Given the description of an element on the screen output the (x, y) to click on. 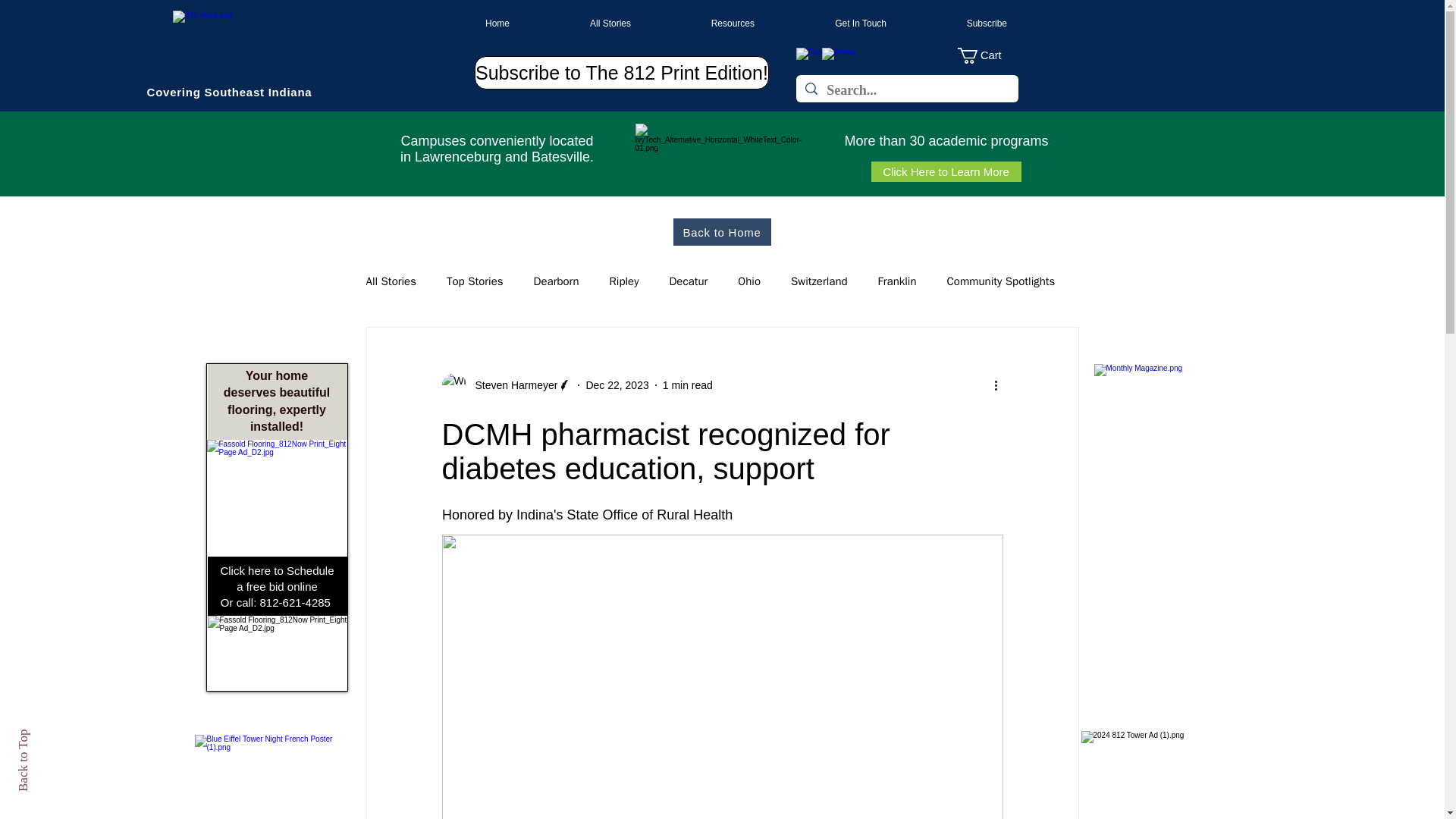
Cart (987, 55)
Cart (987, 55)
Back to Home (721, 231)
Click Here to Learn More (945, 171)
Or call: 812-621-4285  (277, 602)
All Stories (581, 23)
a free bid online (276, 585)
Get In Touch (831, 23)
Resources (703, 23)
Dec 22, 2023 (616, 385)
Click here to Schedule (276, 570)
Dearborn (556, 281)
Home (468, 23)
Steven Harmeyer (511, 385)
1 min read (687, 385)
